Given the description of an element on the screen output the (x, y) to click on. 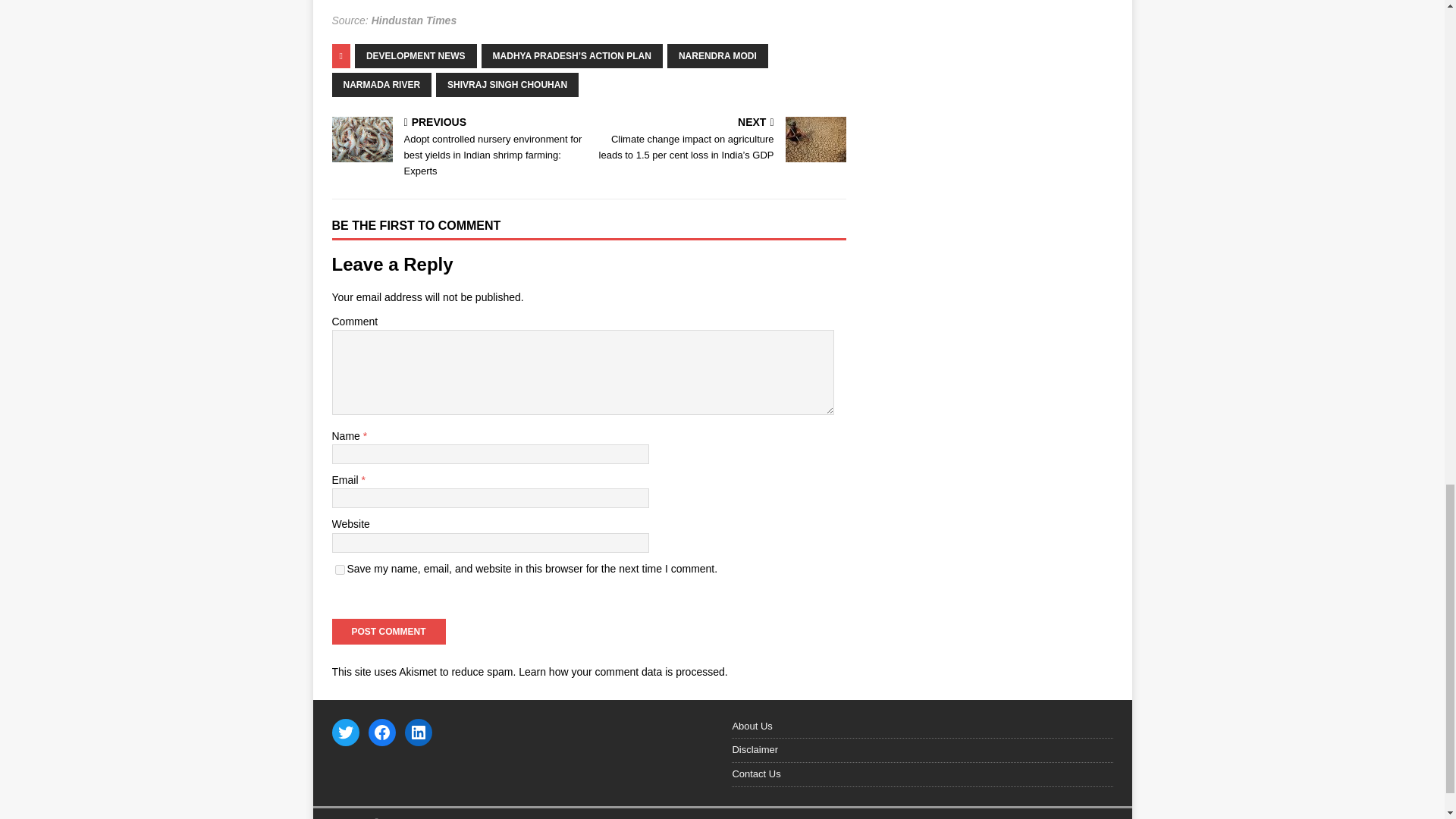
Post Comment (388, 631)
DEVELOPMENT NEWS (416, 55)
Hindustan Times (414, 20)
yes (339, 569)
NARENDRA MODI (717, 55)
